Given the description of an element on the screen output the (x, y) to click on. 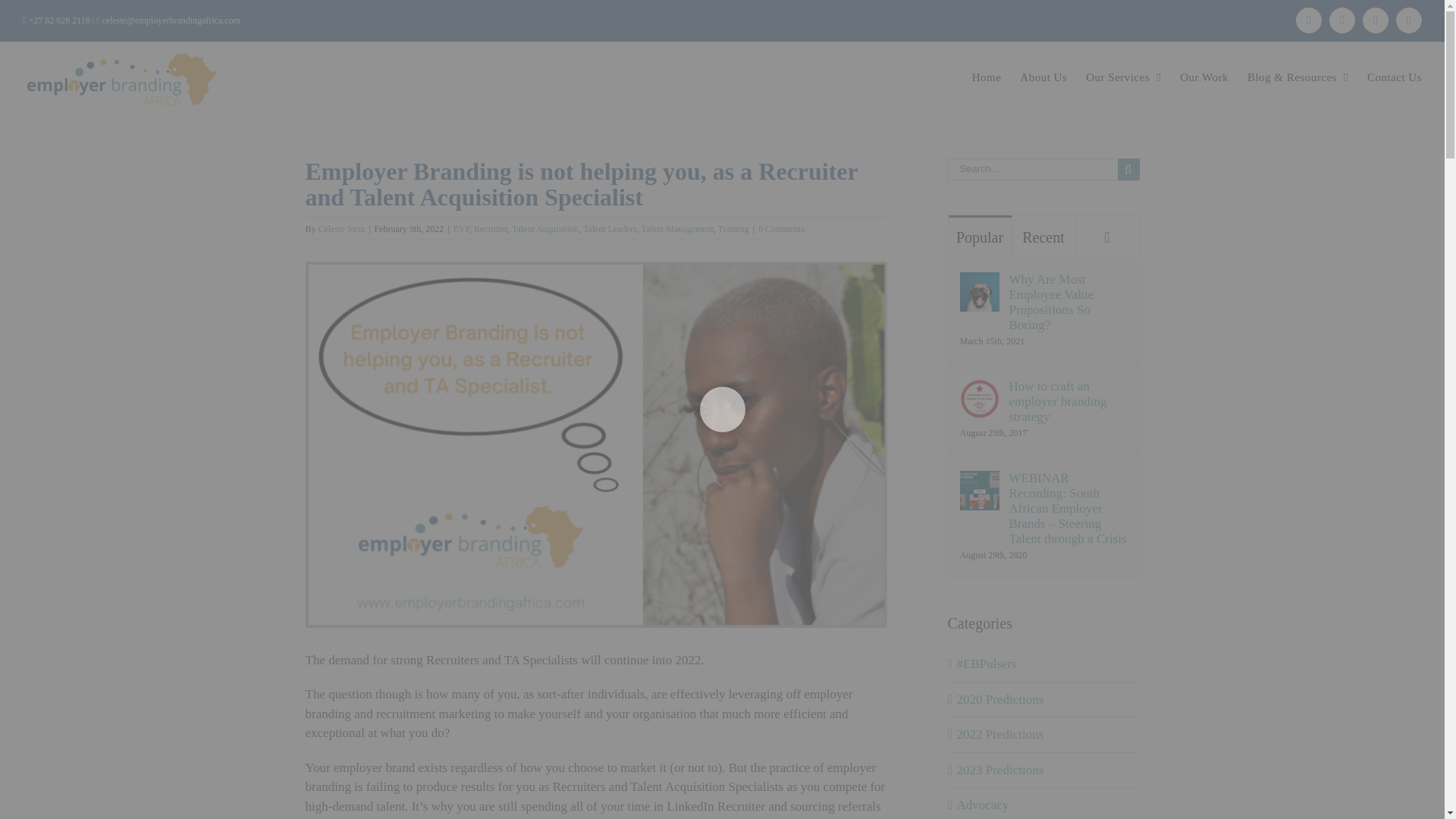
Facebook (1375, 20)
X (1342, 20)
Our Services (1123, 76)
YouTube (1409, 20)
Posts by Celeste Sirin (341, 227)
LinkedIn (1308, 20)
YouTube (1409, 20)
Facebook (1375, 20)
LinkedIn (1308, 20)
X (1342, 20)
